Given the description of an element on the screen output the (x, y) to click on. 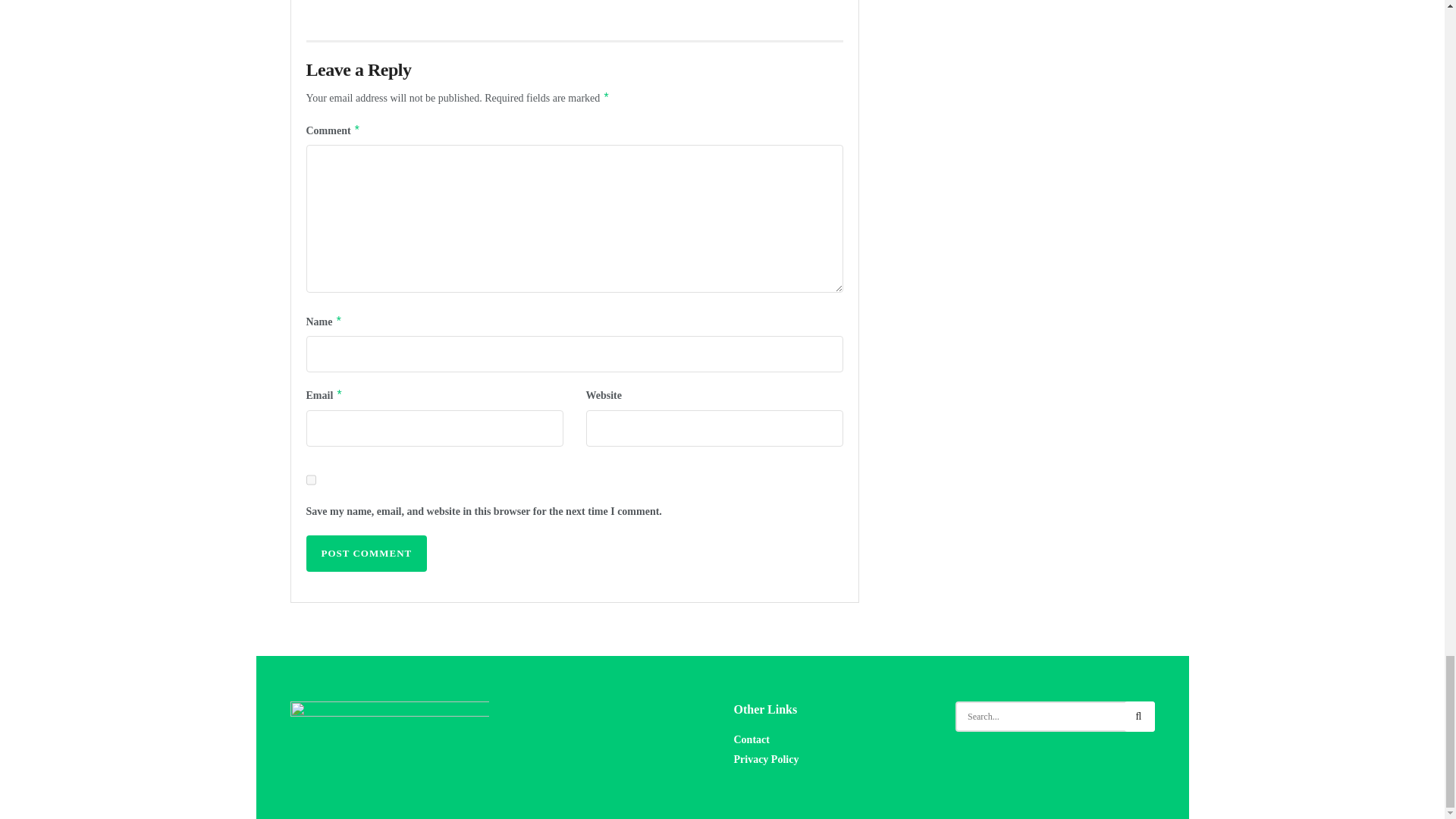
Post Comment (366, 553)
